Given the description of an element on the screen output the (x, y) to click on. 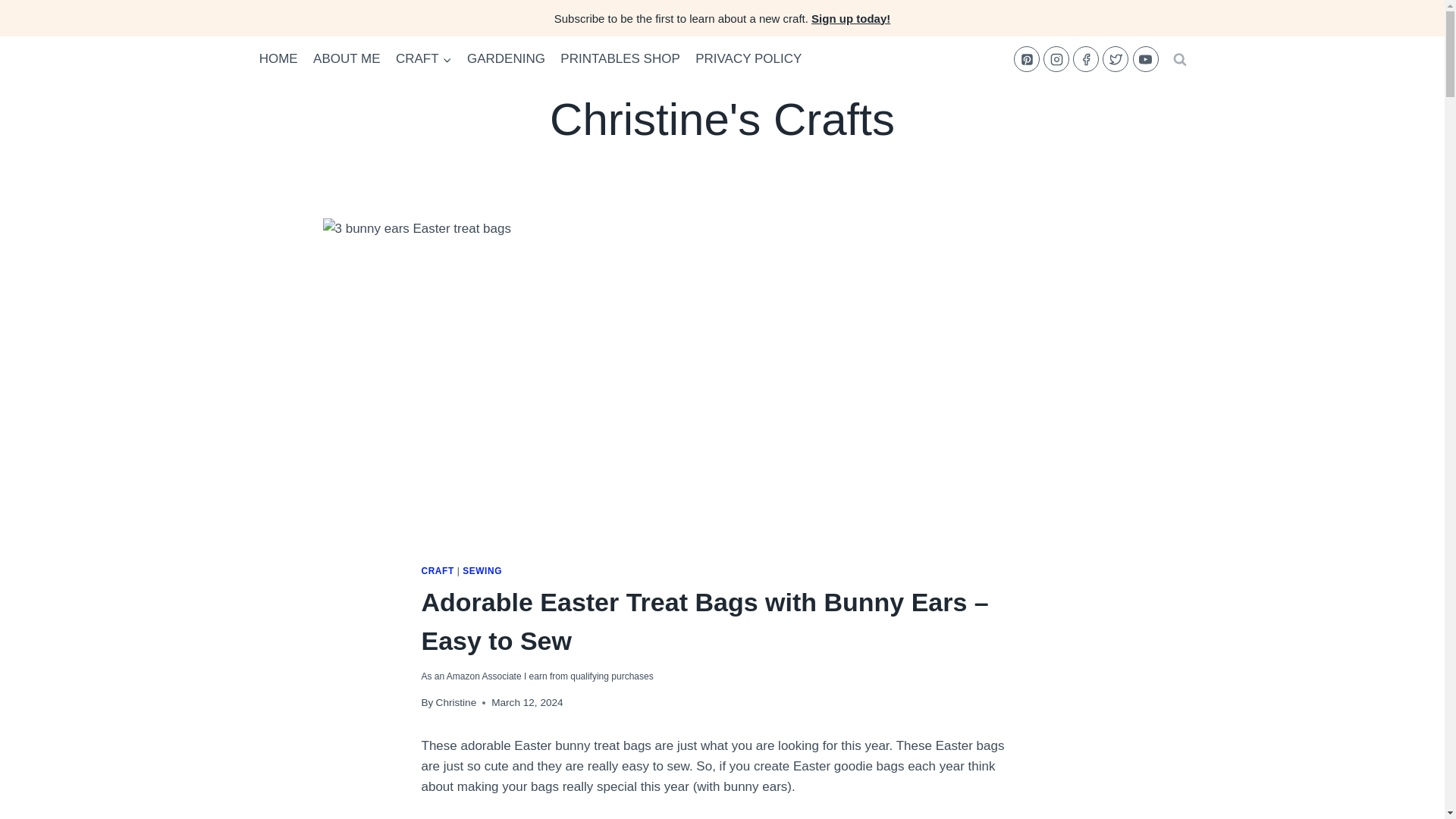
SEWING (482, 570)
Christine's Crafts (722, 119)
HOME (278, 58)
GARDENING (506, 58)
Christine (456, 702)
Sign up today! (849, 18)
CRAFT (424, 58)
PRINTABLES SHOP (620, 58)
CRAFT (438, 570)
PRIVACY POLICY (748, 58)
